Given the description of an element on the screen output the (x, y) to click on. 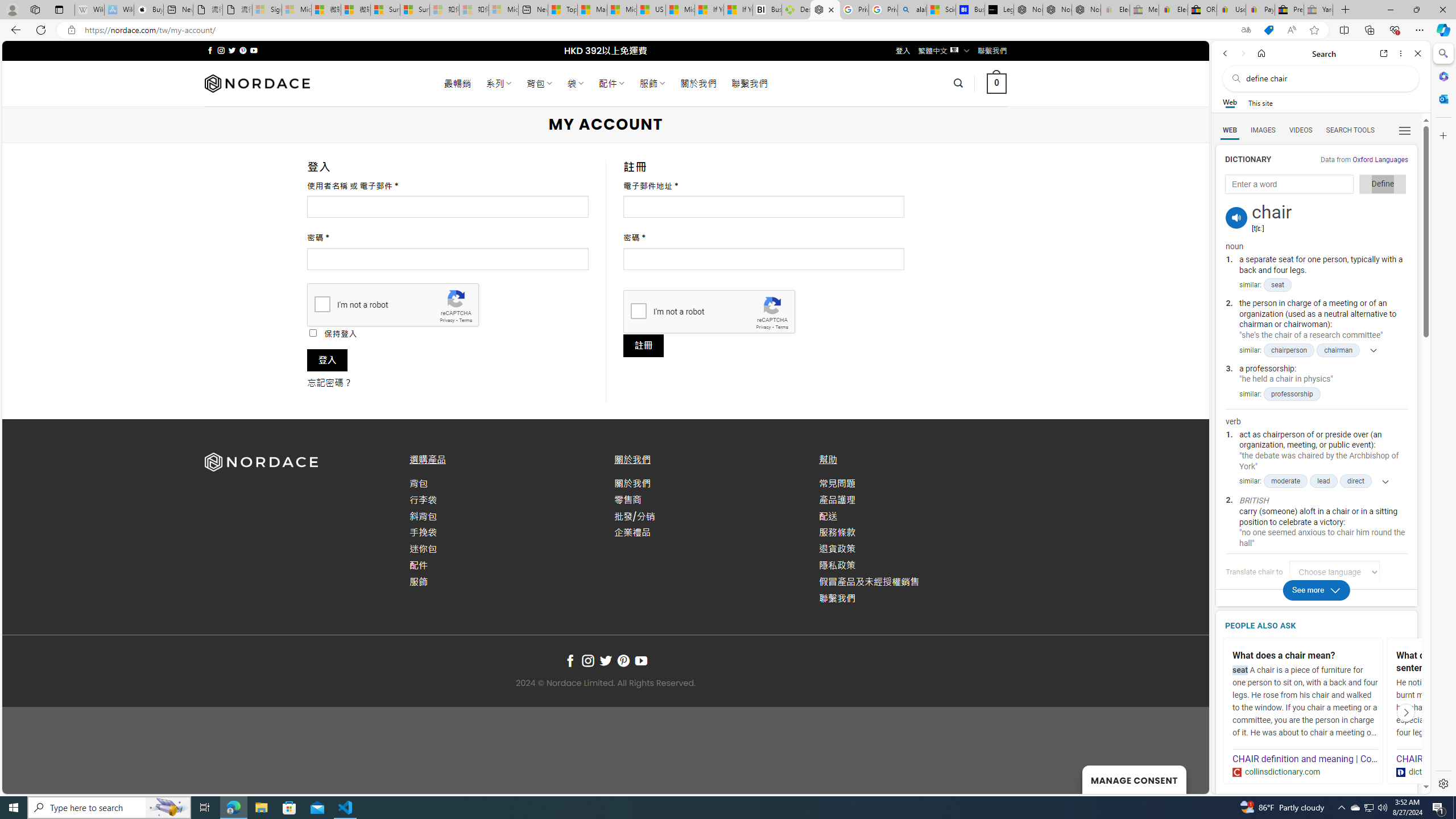
professorship (1291, 393)
Show more (1381, 480)
Marine life - MSN (591, 9)
